Given the description of an element on the screen output the (x, y) to click on. 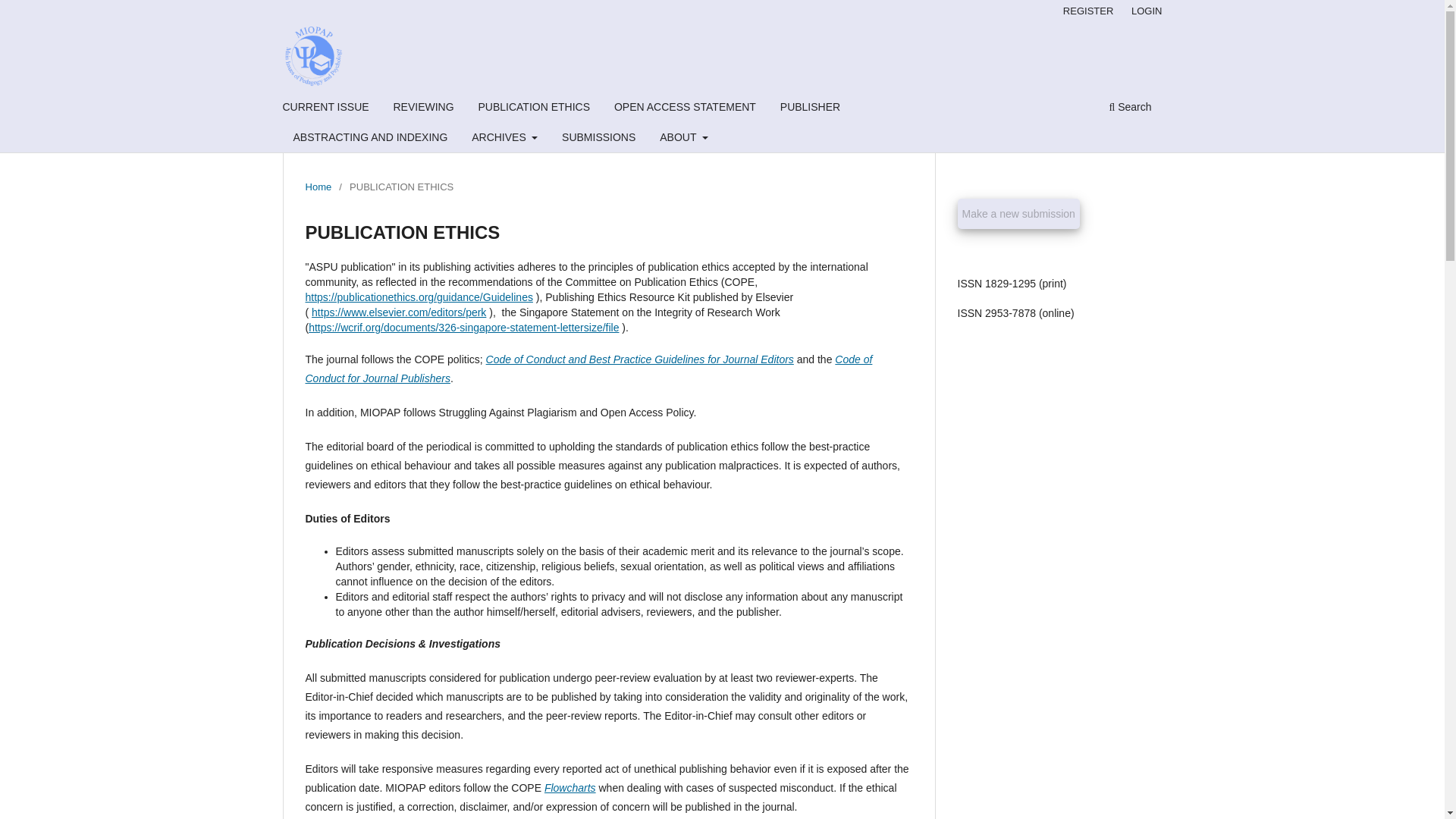
Flowcharts (569, 787)
LOGIN (1146, 11)
OPEN ACCESS STATEMENT (684, 108)
SUBMISSIONS (598, 139)
ABSTRACTING AND INDEXING (370, 139)
REGISTER (1088, 11)
CURRENT ISSUE (326, 108)
ARCHIVES (504, 139)
Code of Conduct for Journal Publishers (588, 368)
Home (317, 186)
REVIEWING (422, 108)
ABOUT (683, 139)
PUBLISHER (809, 108)
Search (1129, 108)
